Given the description of an element on the screen output the (x, y) to click on. 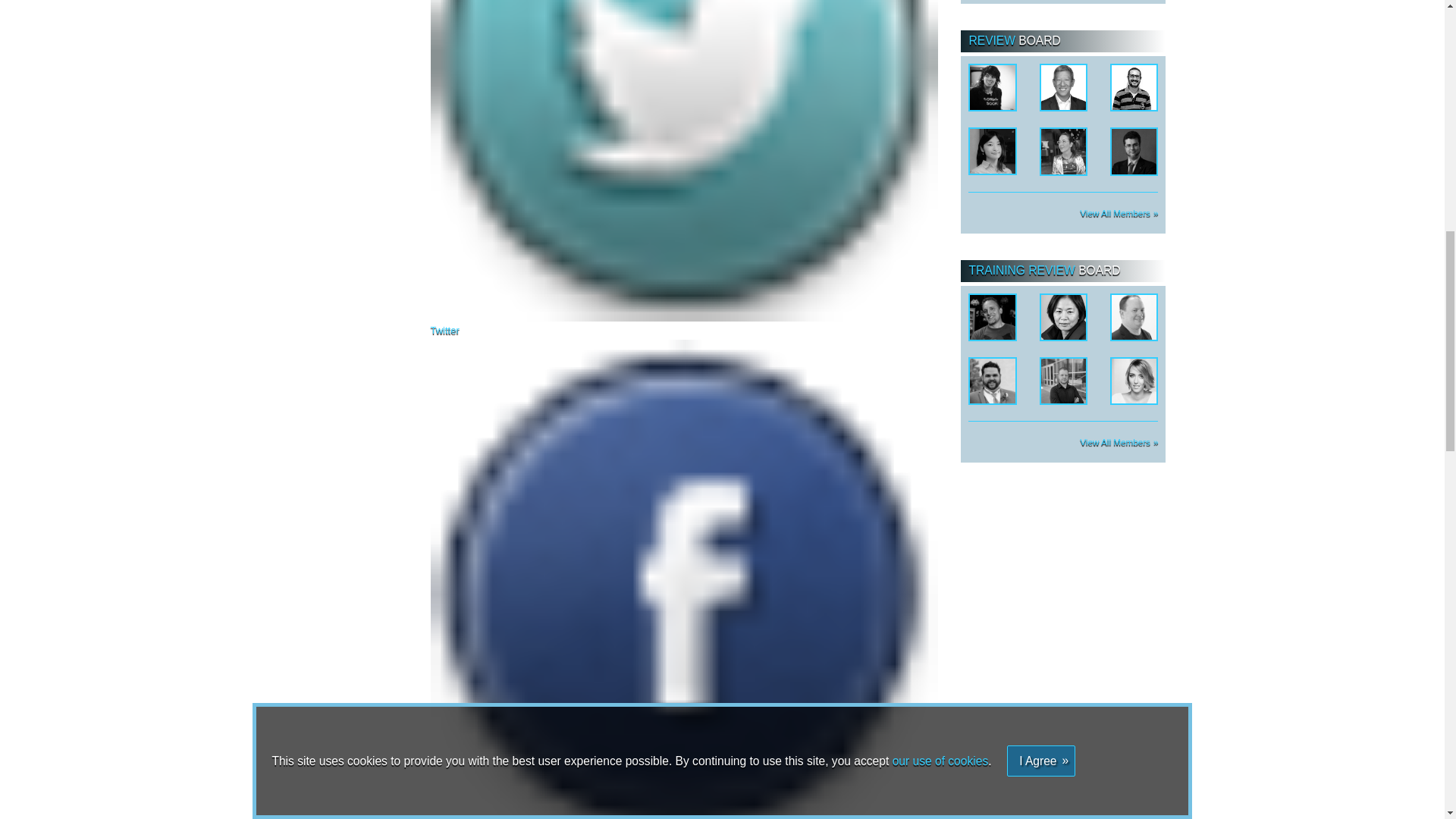
Stefano Zanero (1134, 150)
Maria Markstedter (1134, 379)
Asuka Nakajima (991, 150)
Kymberlee Price (1063, 150)
Bart Stump (991, 379)
Sheila A. Berta (991, 86)
Neil Wyler (1063, 379)
Jonathan Squire (1134, 316)
Russ Rogers (991, 316)
Monnappa K A (1134, 86)
